Given the description of an element on the screen output the (x, y) to click on. 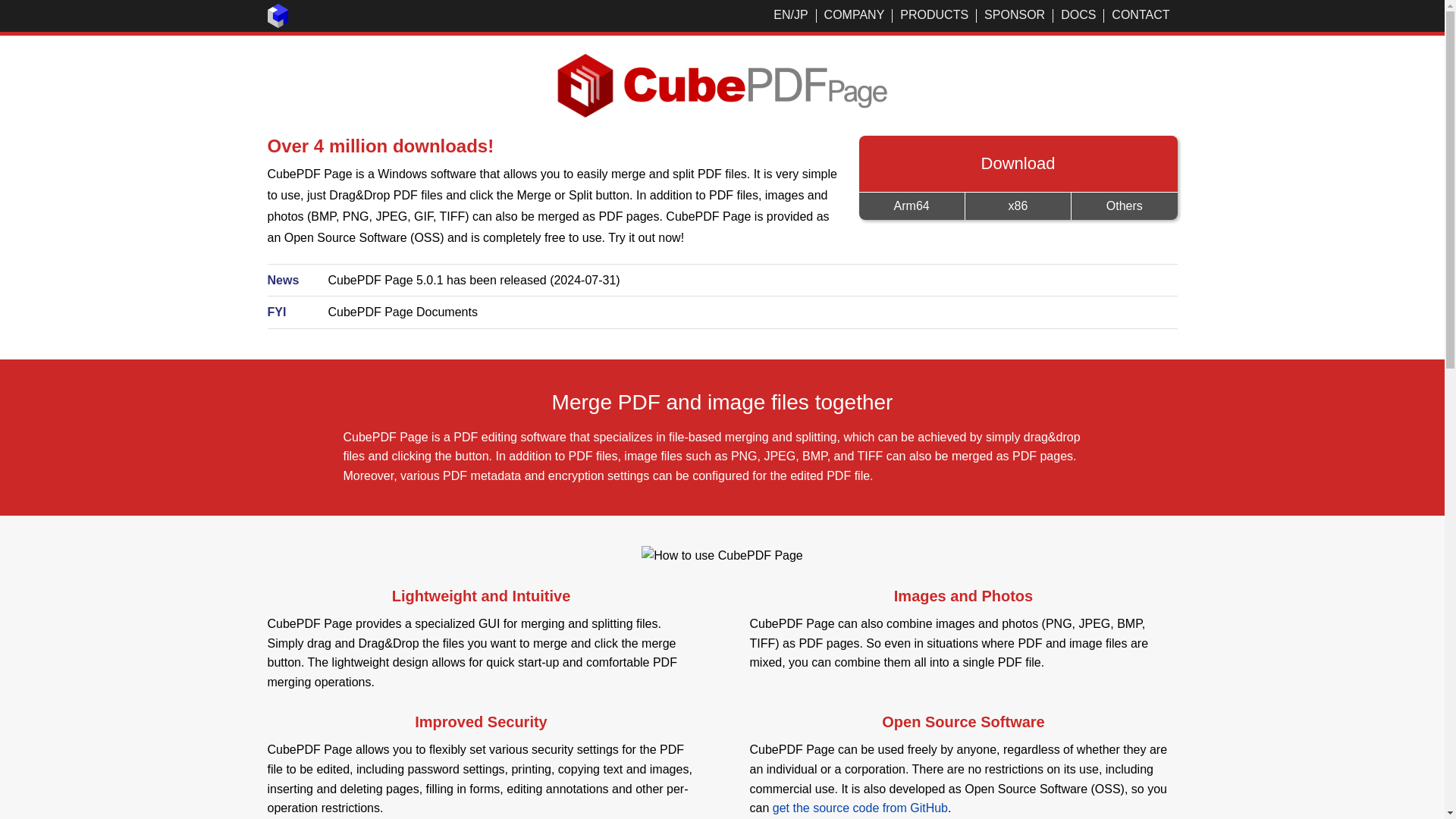
DOCS (1078, 14)
get the source code from GitHub (860, 807)
JP (800, 14)
PRODUCTS (933, 14)
Home (277, 23)
SPONSOR (1014, 14)
CubePDF Page Documents (402, 311)
Arm64 (911, 205)
COMPANY (854, 14)
Download (1017, 163)
